Given the description of an element on the screen output the (x, y) to click on. 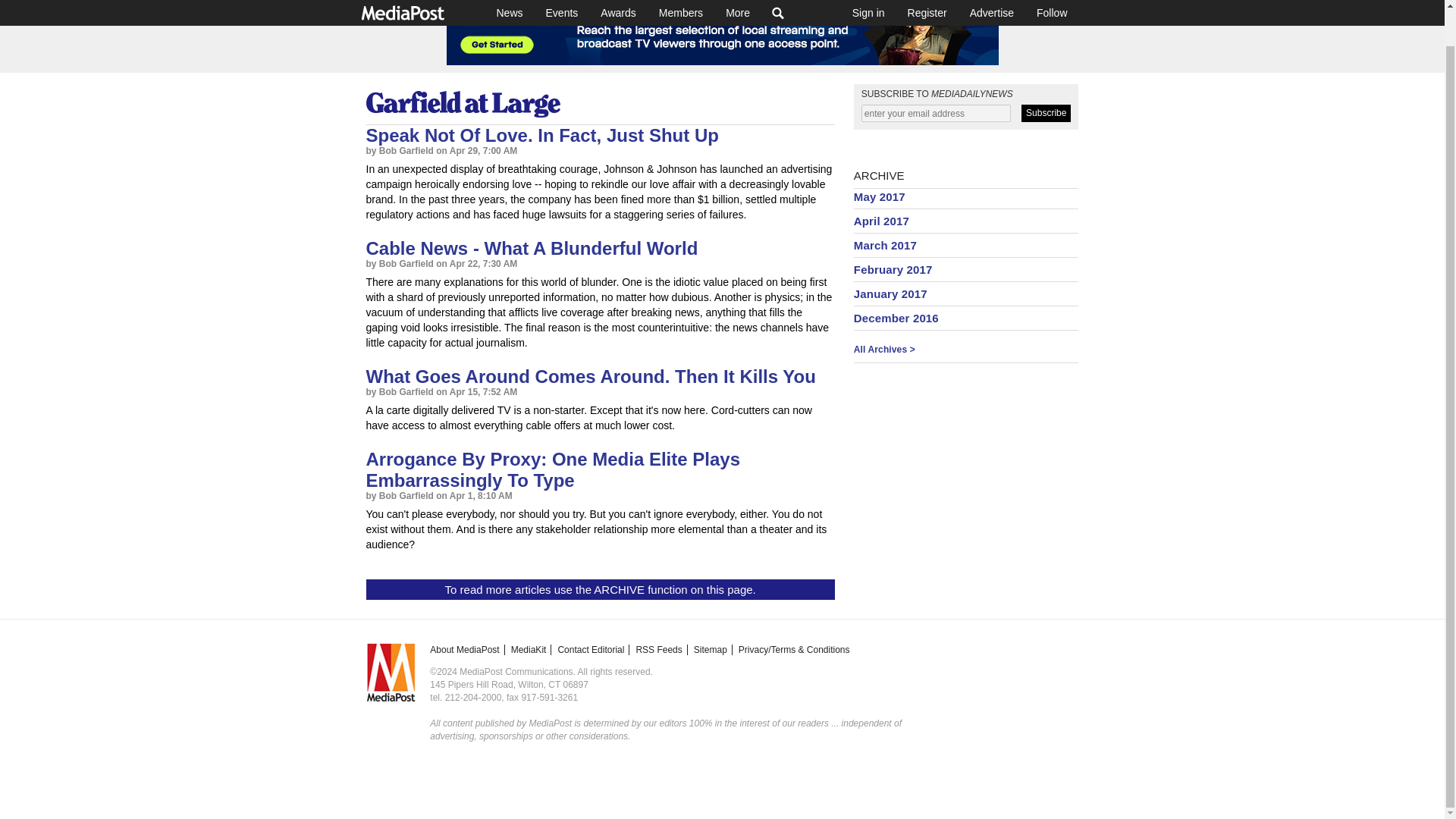
Subscribe (1046, 113)
